Given the description of an element on the screen output the (x, y) to click on. 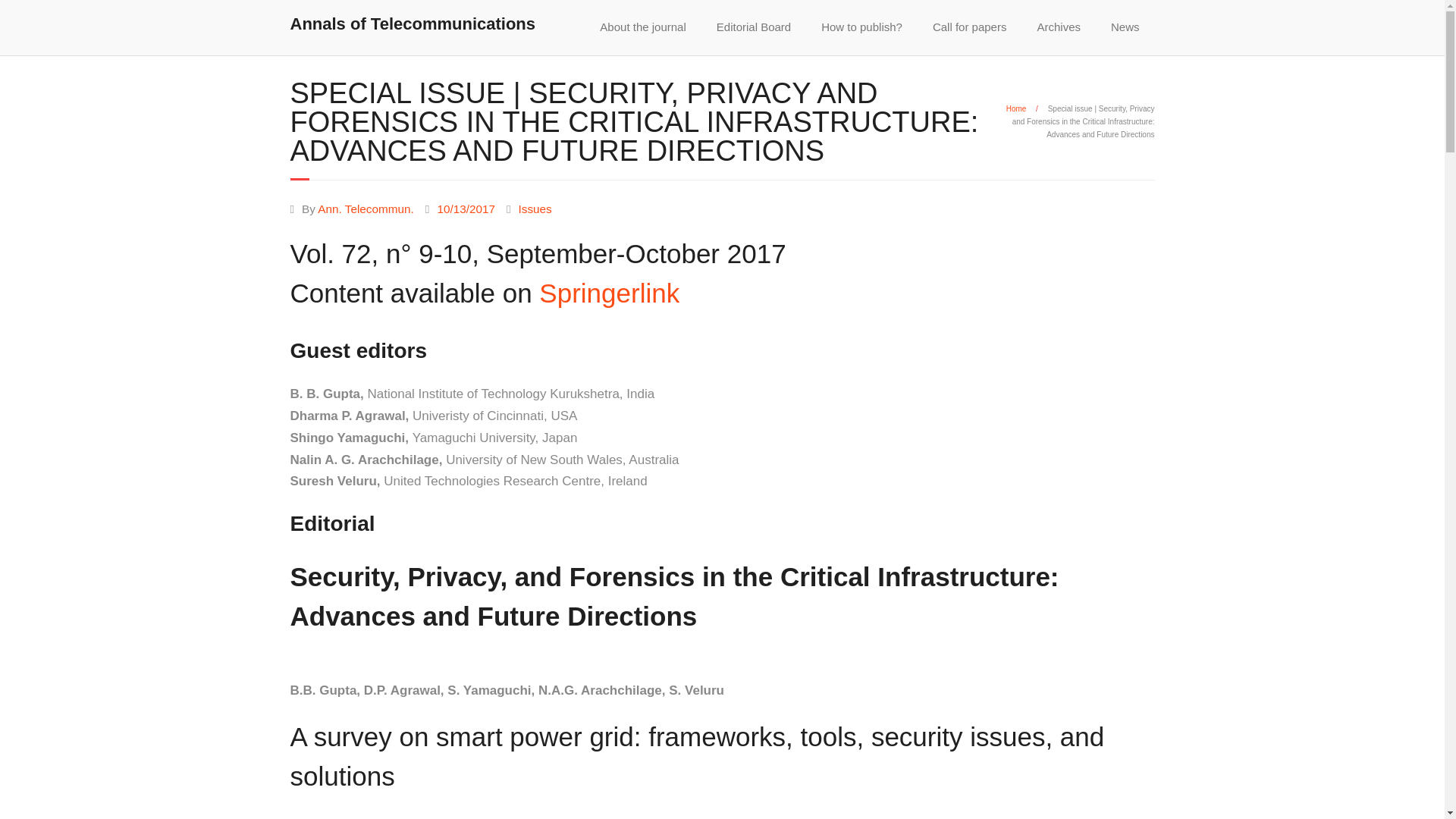
About the journal (642, 27)
Issues (534, 207)
Annals of Telecommunications (412, 23)
Ann. Telecommun. (365, 207)
Springerlink (608, 292)
How to publish? (861, 27)
News (1125, 27)
Home (1016, 108)
Call for papers (969, 27)
Annals of Telecommunications (412, 21)
Archives (1059, 27)
Editorial Board (753, 27)
View all posts by Ann. Telecommun. (365, 207)
